Given the description of an element on the screen output the (x, y) to click on. 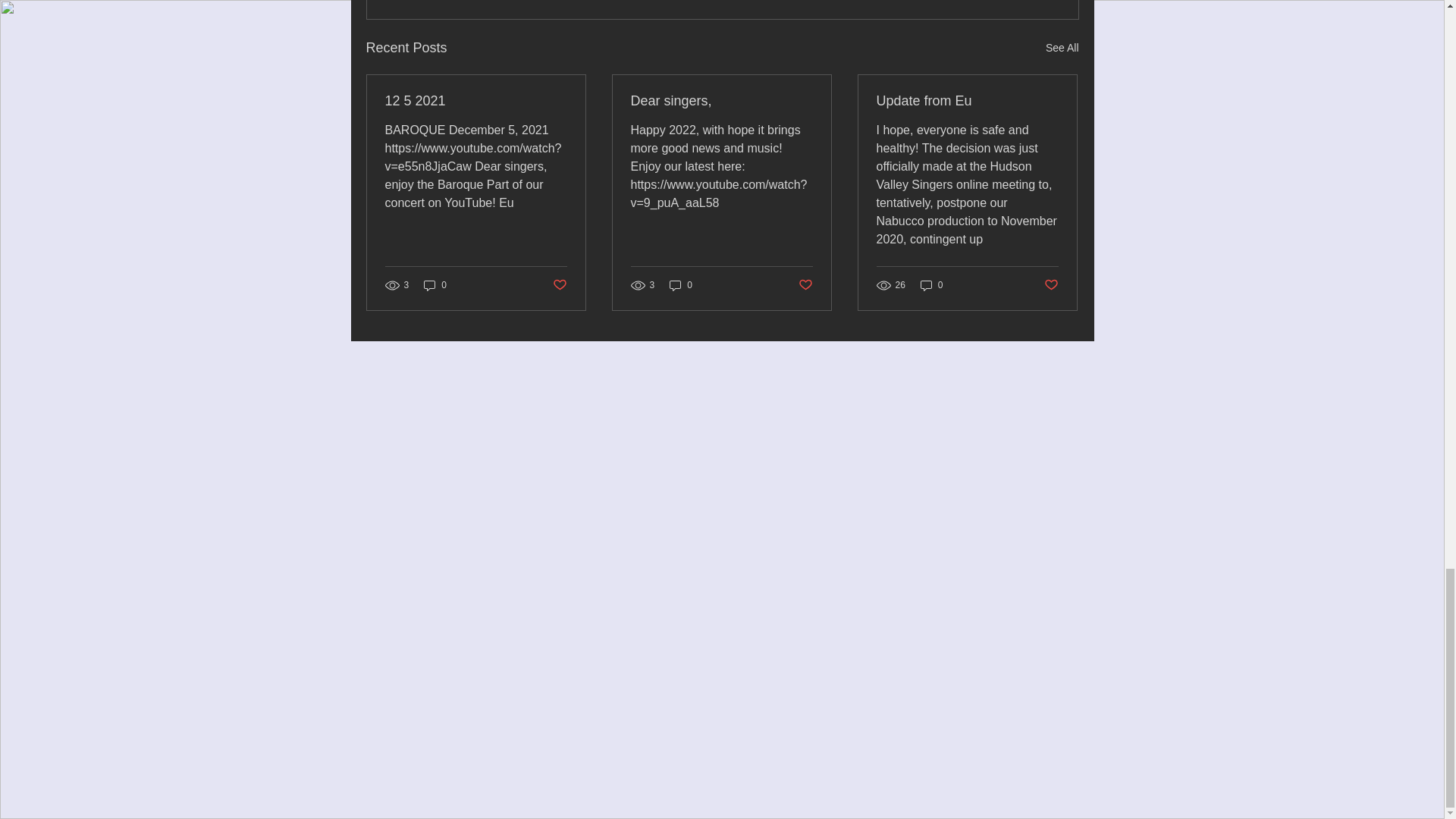
0 (435, 285)
0 (931, 285)
Post not marked as liked (804, 284)
12 5 2021 (476, 100)
Post not marked as liked (1050, 284)
0 (681, 285)
Dear singers, (721, 100)
See All (1061, 47)
Post not marked as liked (558, 284)
Update from Eu (967, 100)
